Given the description of an element on the screen output the (x, y) to click on. 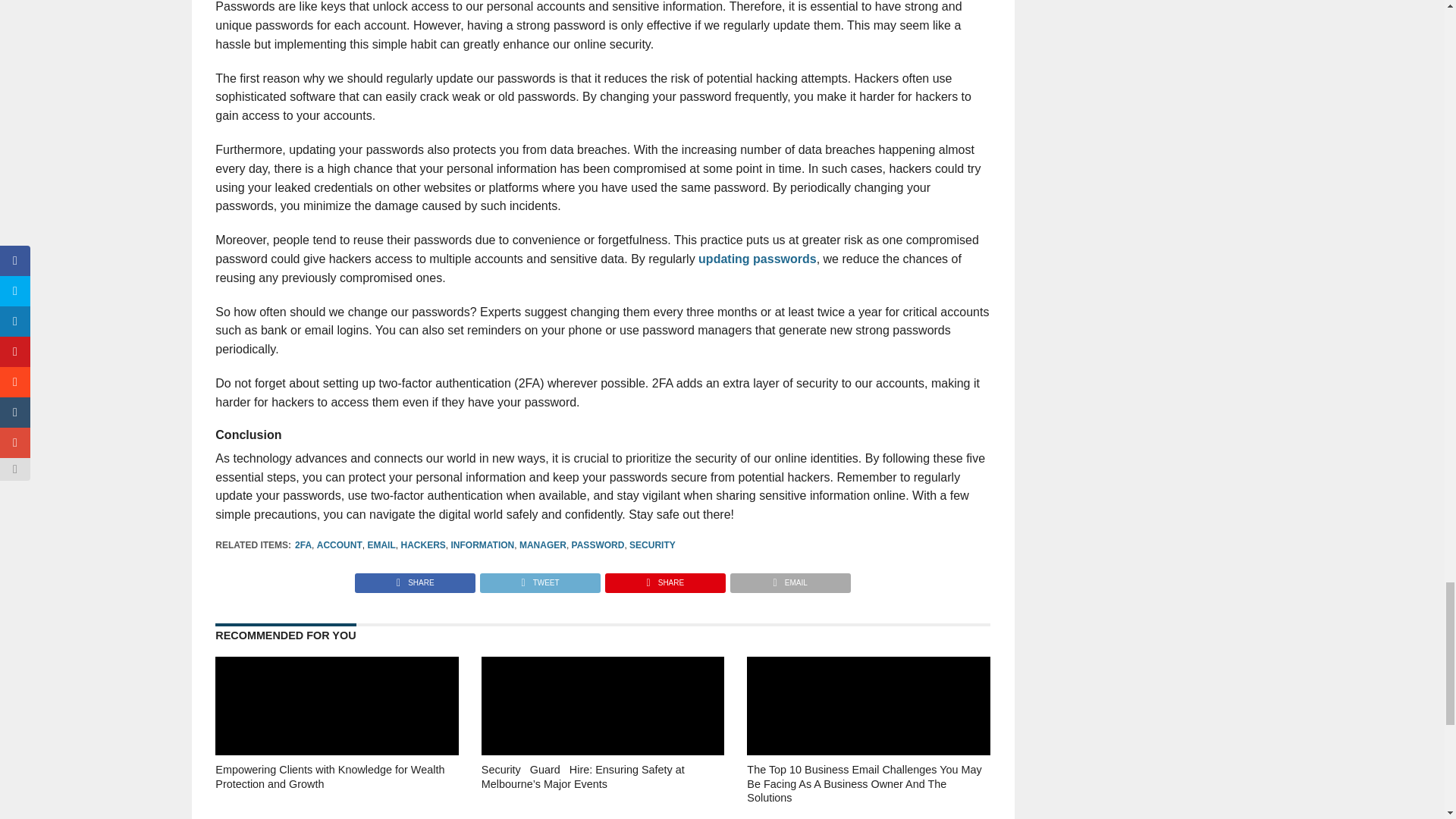
Share on Facebook (415, 578)
Tweet This Post (539, 578)
Pin This Post (664, 578)
